Given the description of an element on the screen output the (x, y) to click on. 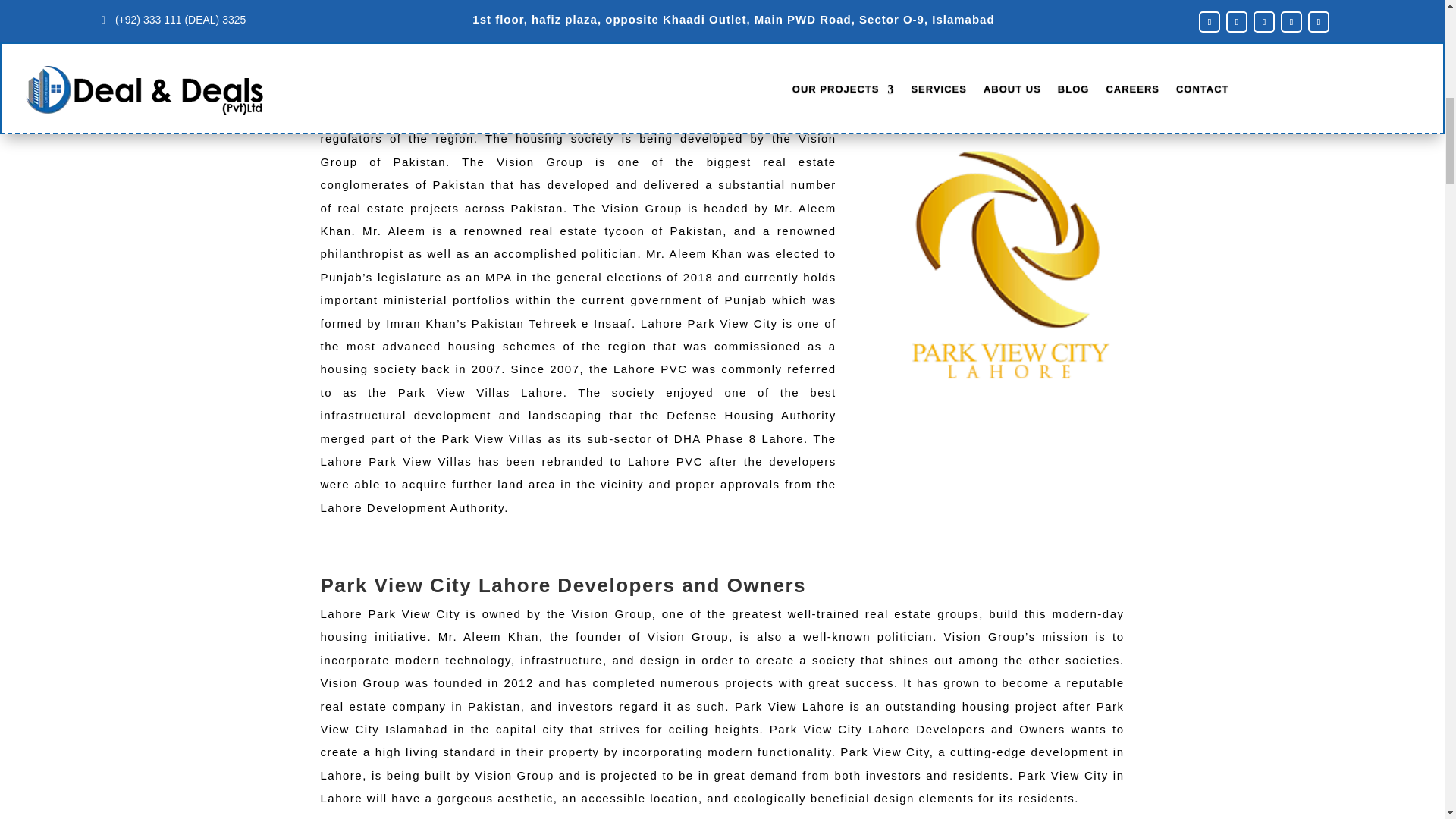
pvc-lahore-white (1009, 265)
